Given the description of an element on the screen output the (x, y) to click on. 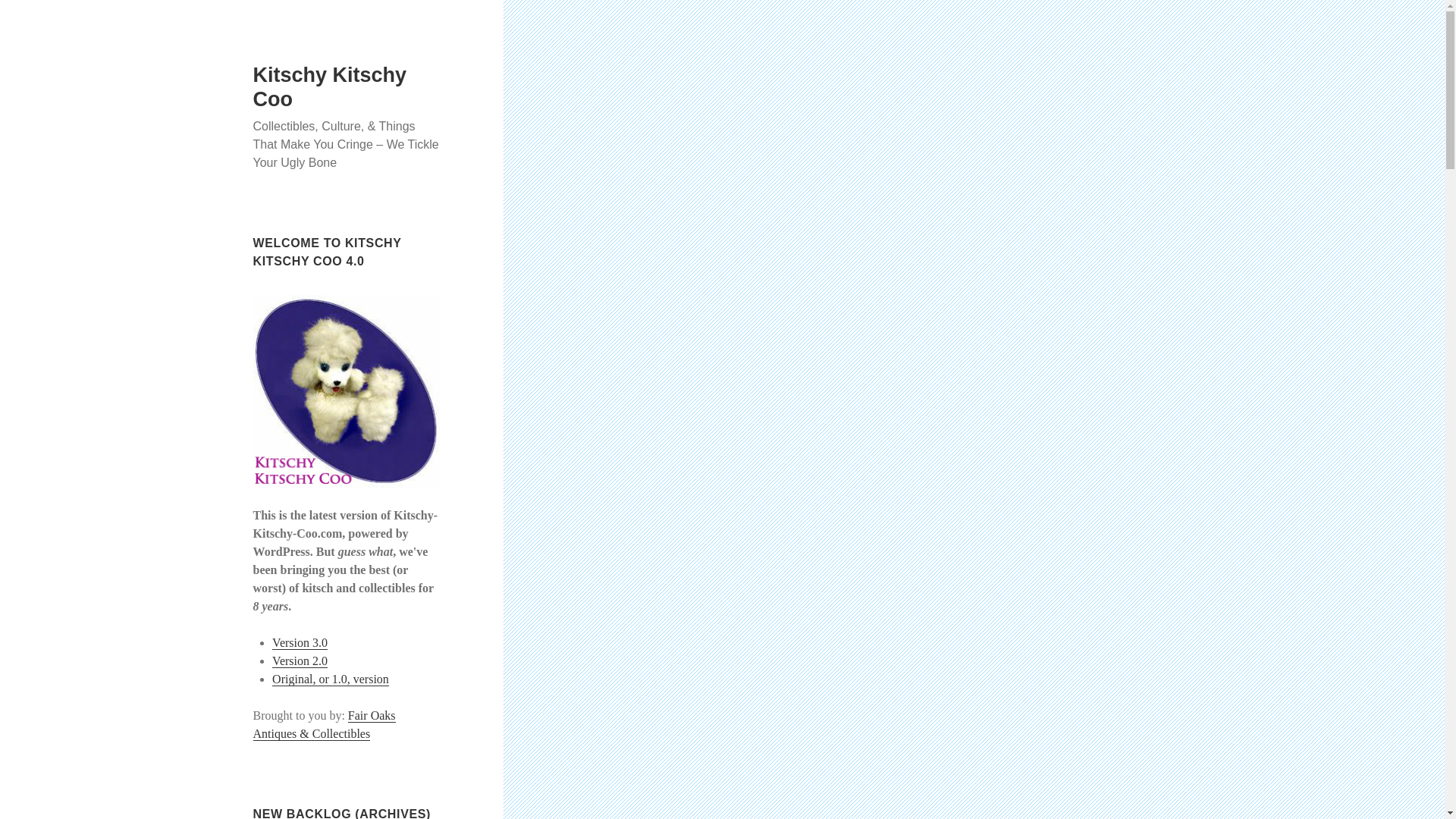
Kitschy Kitschy Coo (330, 86)
Version 2.0 (299, 661)
Version 3.0 (299, 643)
Original, or 1.0, version (330, 679)
